Given the description of an element on the screen output the (x, y) to click on. 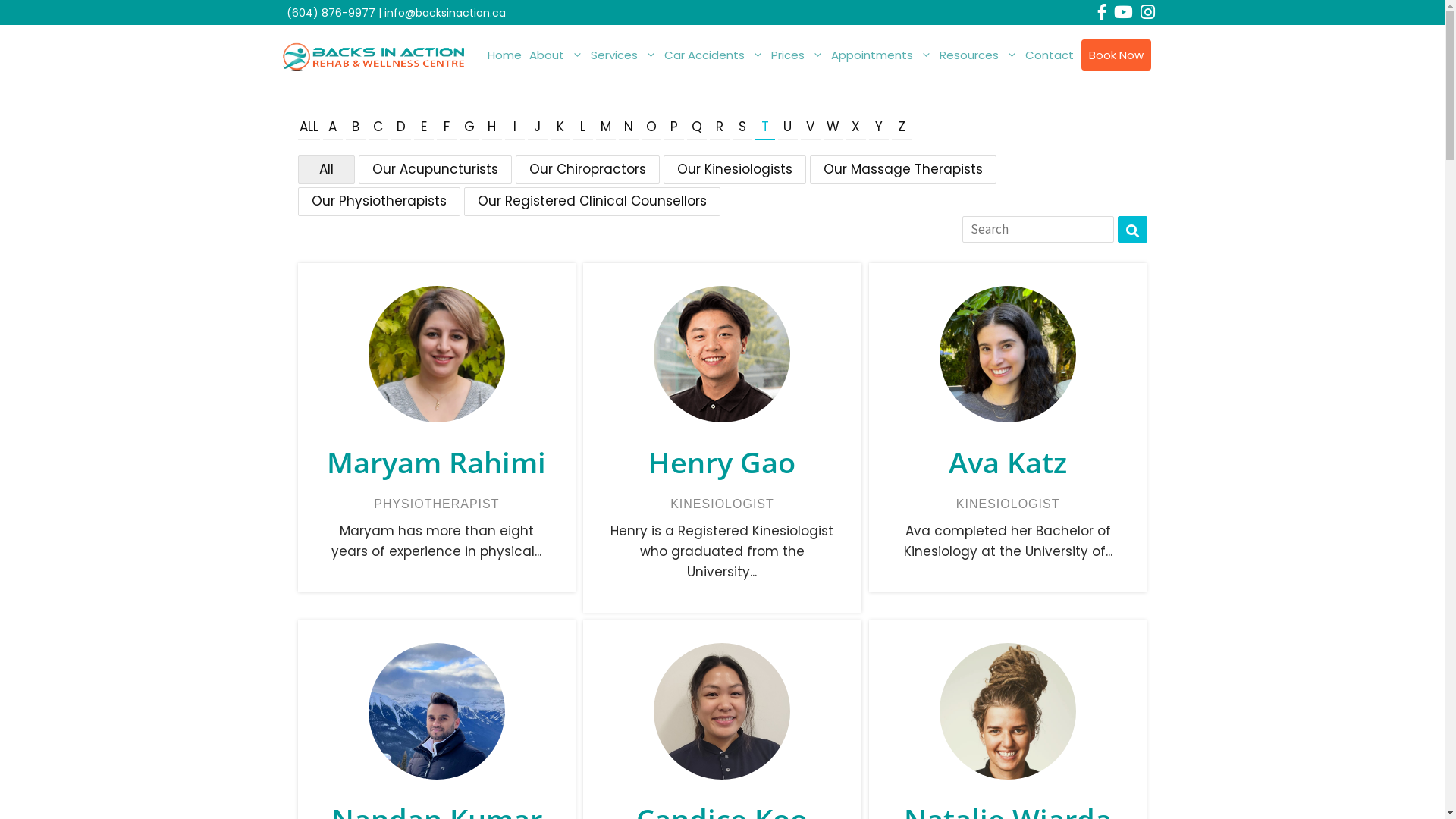
M Element type: text (605, 128)
(604) 876-9977 Element type: text (330, 12)
Resources Element type: text (978, 55)
E Element type: text (423, 128)
Henry Gao Element type: text (721, 462)
Z Element type: text (901, 128)
X Element type: text (856, 128)
Home Element type: text (504, 55)
Contact Element type: text (1048, 55)
P Element type: text (674, 128)
Car Accidents Element type: text (712, 55)
info@backsinaction.ca Element type: text (444, 12)
G Element type: text (469, 128)
Maryam Rahimi Element type: text (436, 462)
Book Now Element type: text (1115, 55)
Our Kinesiologists Element type: text (733, 168)
Our Registered Clinical Counsellors Element type: text (591, 200)
About Element type: text (555, 55)
Our Acupuncturists Element type: text (434, 168)
T Element type: text (765, 128)
Our Massage Therapists Element type: text (902, 168)
C Element type: text (378, 128)
Appointments Element type: text (880, 55)
K Element type: text (560, 128)
R Element type: text (719, 128)
Y Element type: text (878, 128)
Q Element type: text (696, 128)
H Element type: text (492, 128)
V Element type: text (810, 128)
Our Physiotherapists Element type: text (377, 200)
L Element type: text (583, 128)
U Element type: text (787, 128)
W Element type: text (833, 128)
N Element type: text (628, 128)
F Element type: text (446, 128)
Ava Katz Element type: text (1007, 462)
Services Element type: text (623, 55)
J Element type: text (537, 128)
O Element type: text (651, 128)
Our Chiropractors Element type: text (587, 168)
D Element type: text (401, 128)
S Element type: text (742, 128)
Prices Element type: text (797, 55)
B Element type: text (355, 128)
A Element type: text (332, 128)
I Element type: text (514, 128)
ALL Element type: text (308, 128)
